Given the description of an element on the screen output the (x, y) to click on. 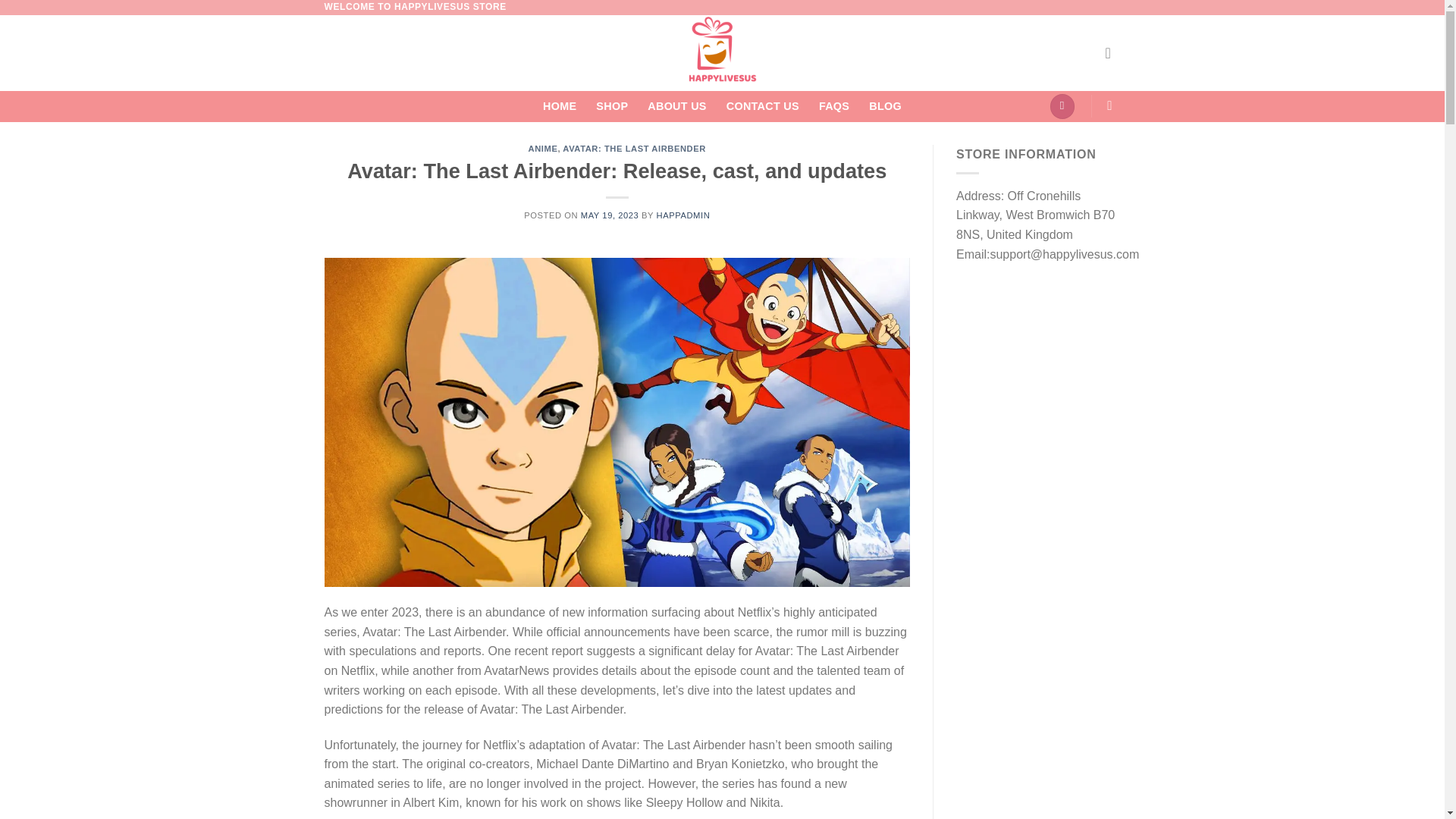
BLOG (885, 105)
HAPPADMIN (683, 215)
ABOUT US (676, 105)
Happylivesus.com (722, 52)
HOME (559, 105)
FAQS (833, 105)
MAY 19, 2023 (609, 215)
Cart (1061, 106)
SHOP (611, 105)
AVATAR: THE LAST AIRBENDER (634, 148)
CONTACT US (762, 105)
ANIME (542, 148)
